Given the description of an element on the screen output the (x, y) to click on. 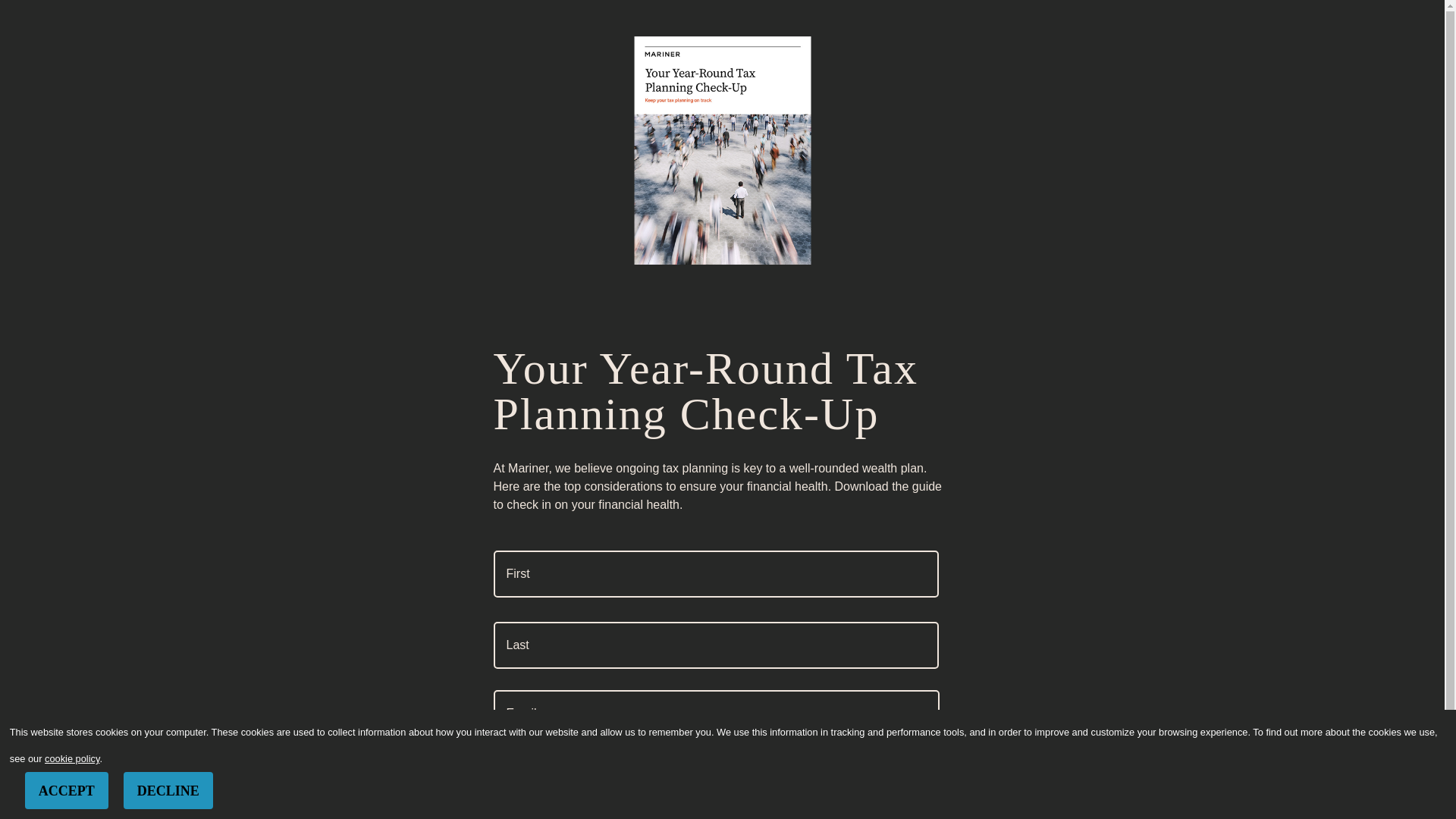
Download Now (576, 29)
